Given the description of an element on the screen output the (x, y) to click on. 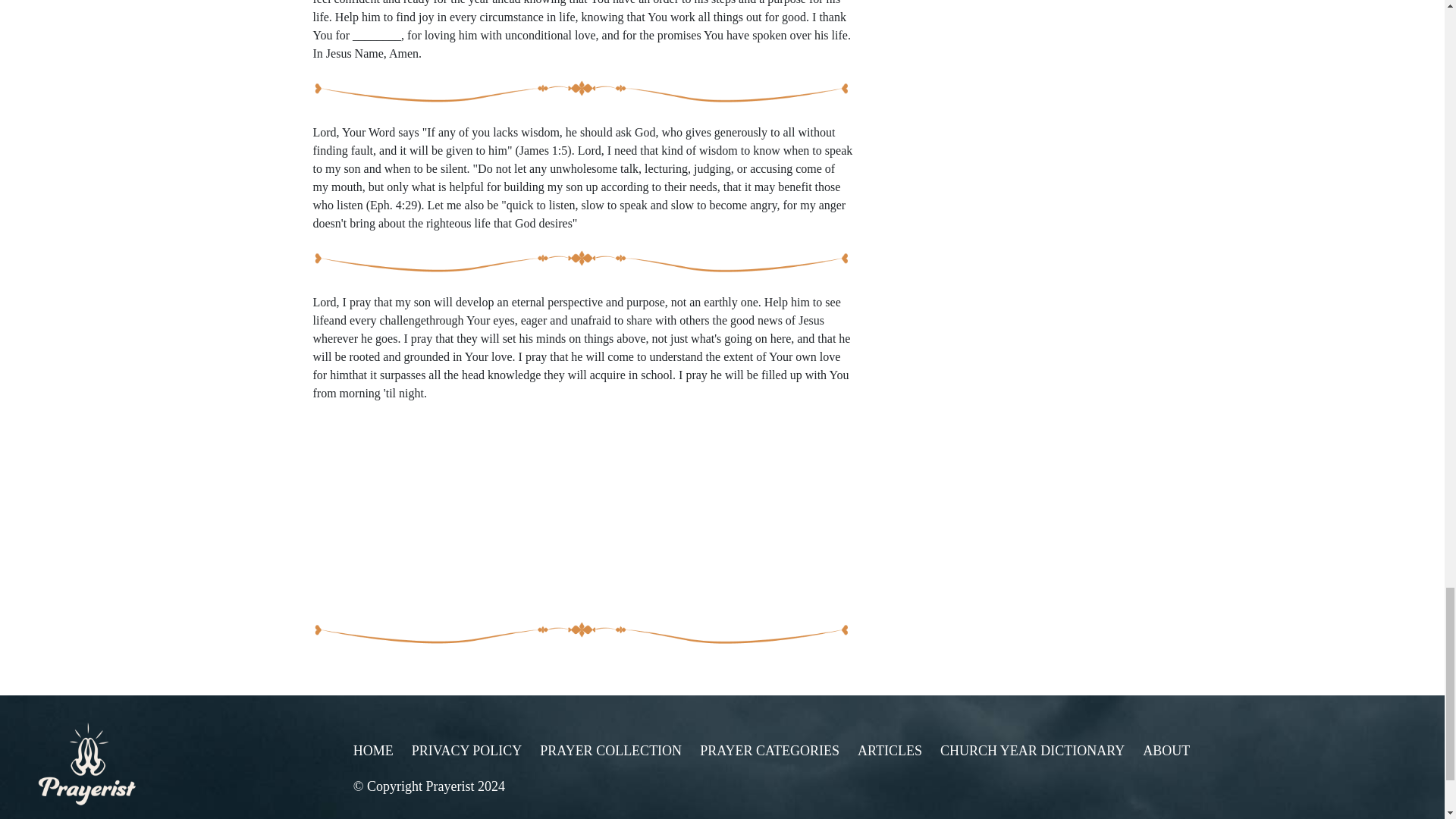
CHURCH YEAR DICTIONARY (1032, 750)
PRIVACY POLICY (467, 750)
PRAYER CATEGORIES (770, 750)
HOME (373, 750)
ARTICLES (889, 750)
PRAYER COLLECTION (610, 750)
ABOUT (1165, 750)
